Given the description of an element on the screen output the (x, y) to click on. 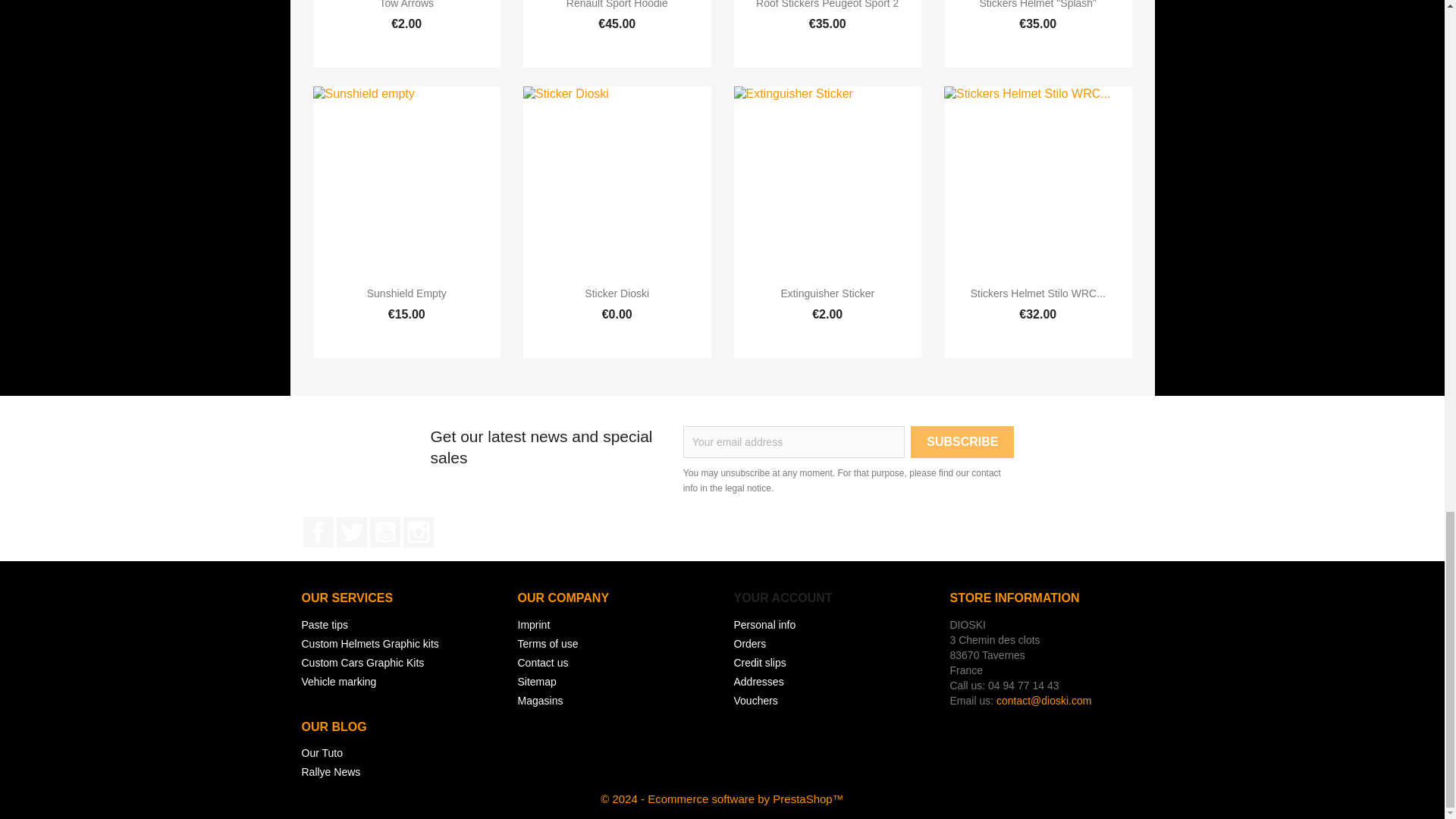
Subscribe (962, 441)
